Given the description of an element on the screen output the (x, y) to click on. 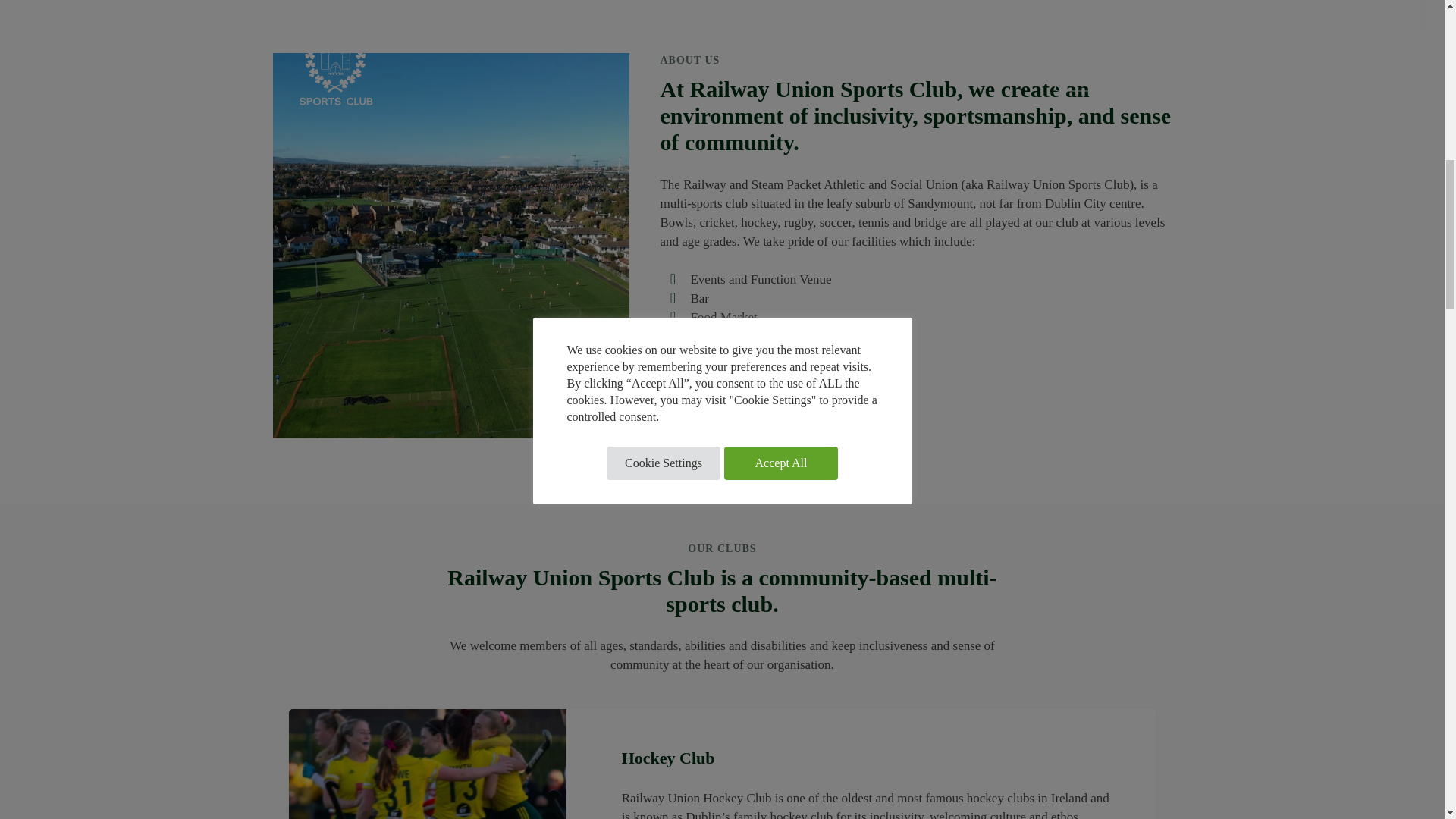
Read more... (694, 425)
